Given the description of an element on the screen output the (x, y) to click on. 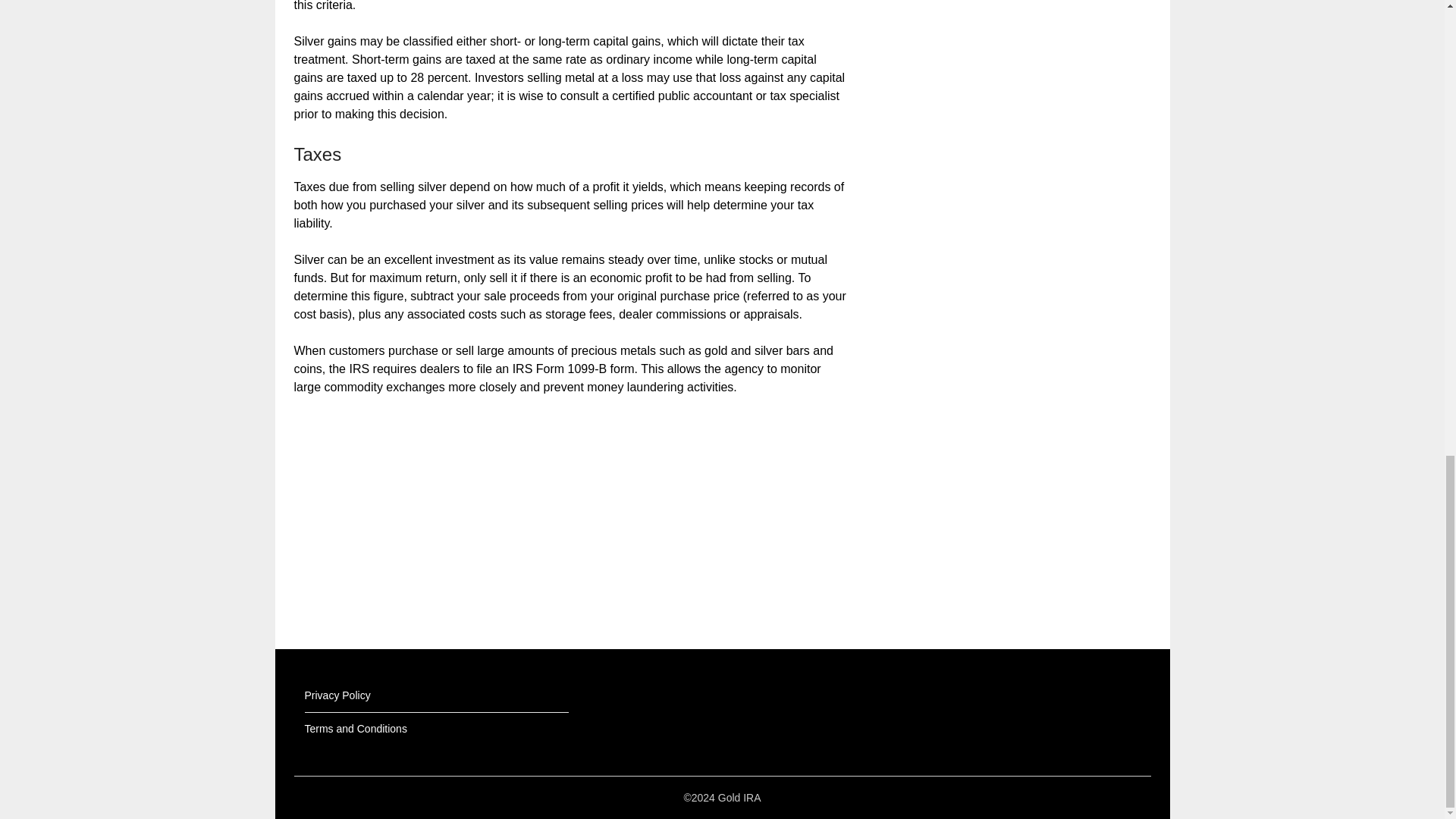
Privacy Policy (337, 695)
Terms and Conditions (355, 728)
